Given the description of an element on the screen output the (x, y) to click on. 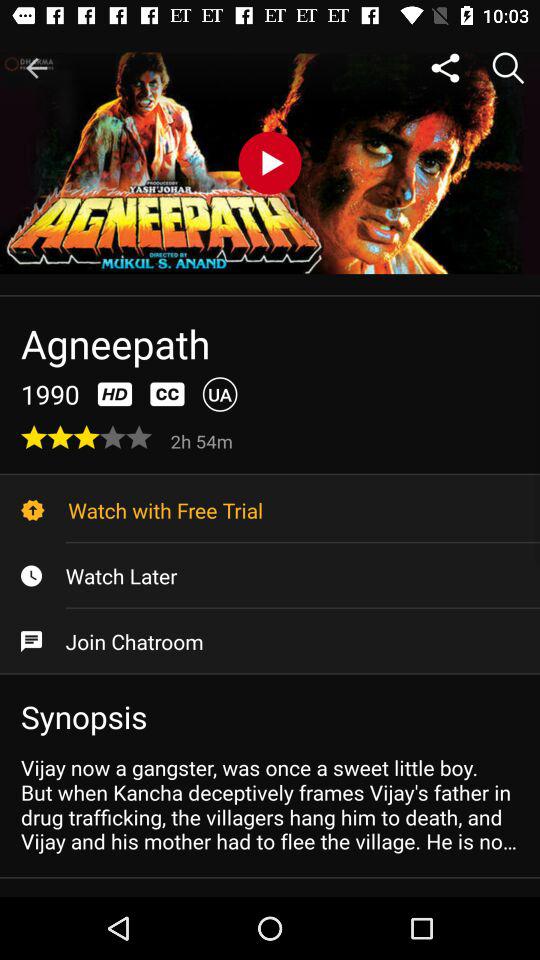
choose the watch with free (270, 510)
